Given the description of an element on the screen output the (x, y) to click on. 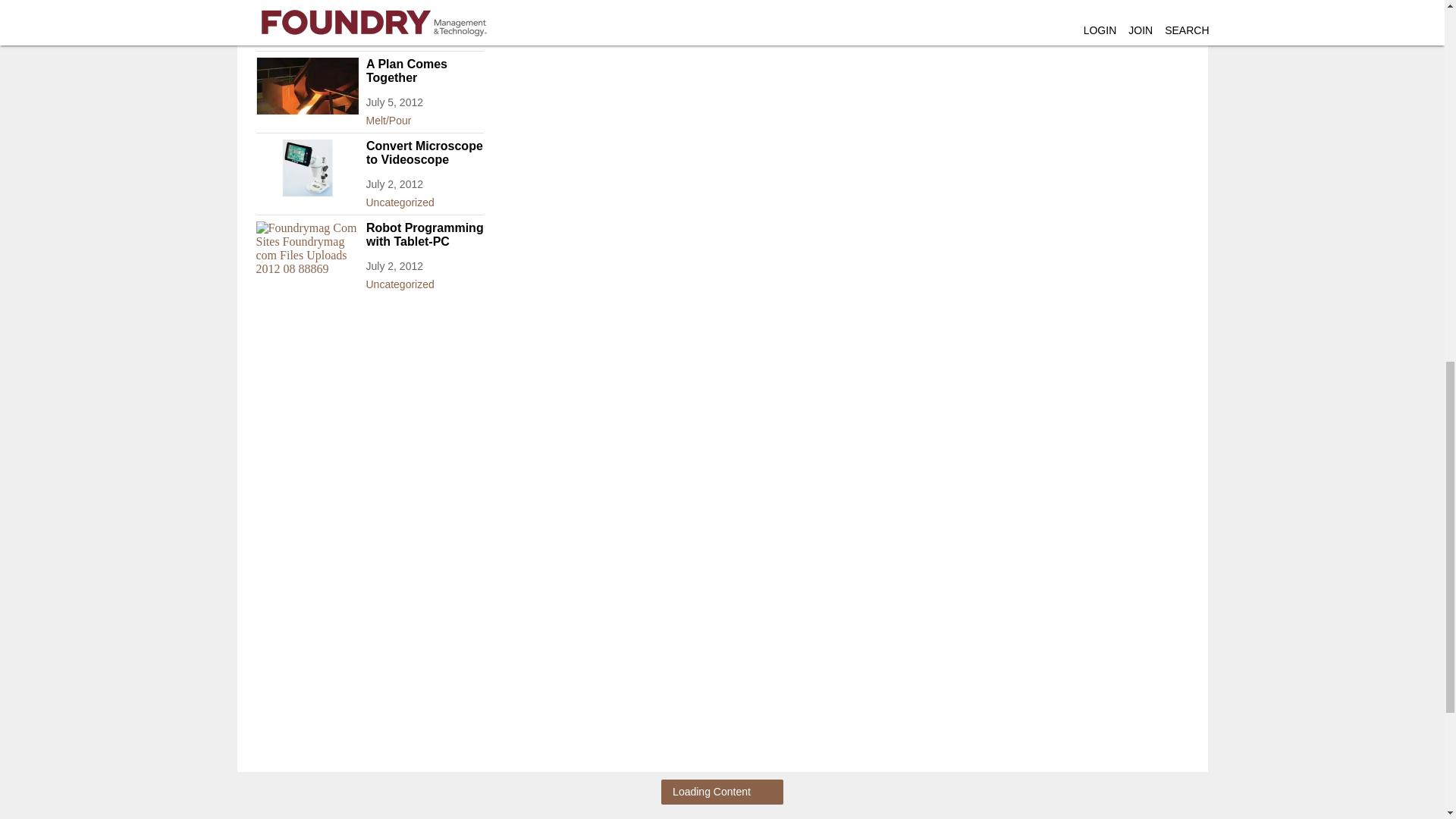
Uncategorized (369, 35)
Vented Safety Helmet (369, 1)
Image (307, 85)
